Given the description of an element on the screen output the (x, y) to click on. 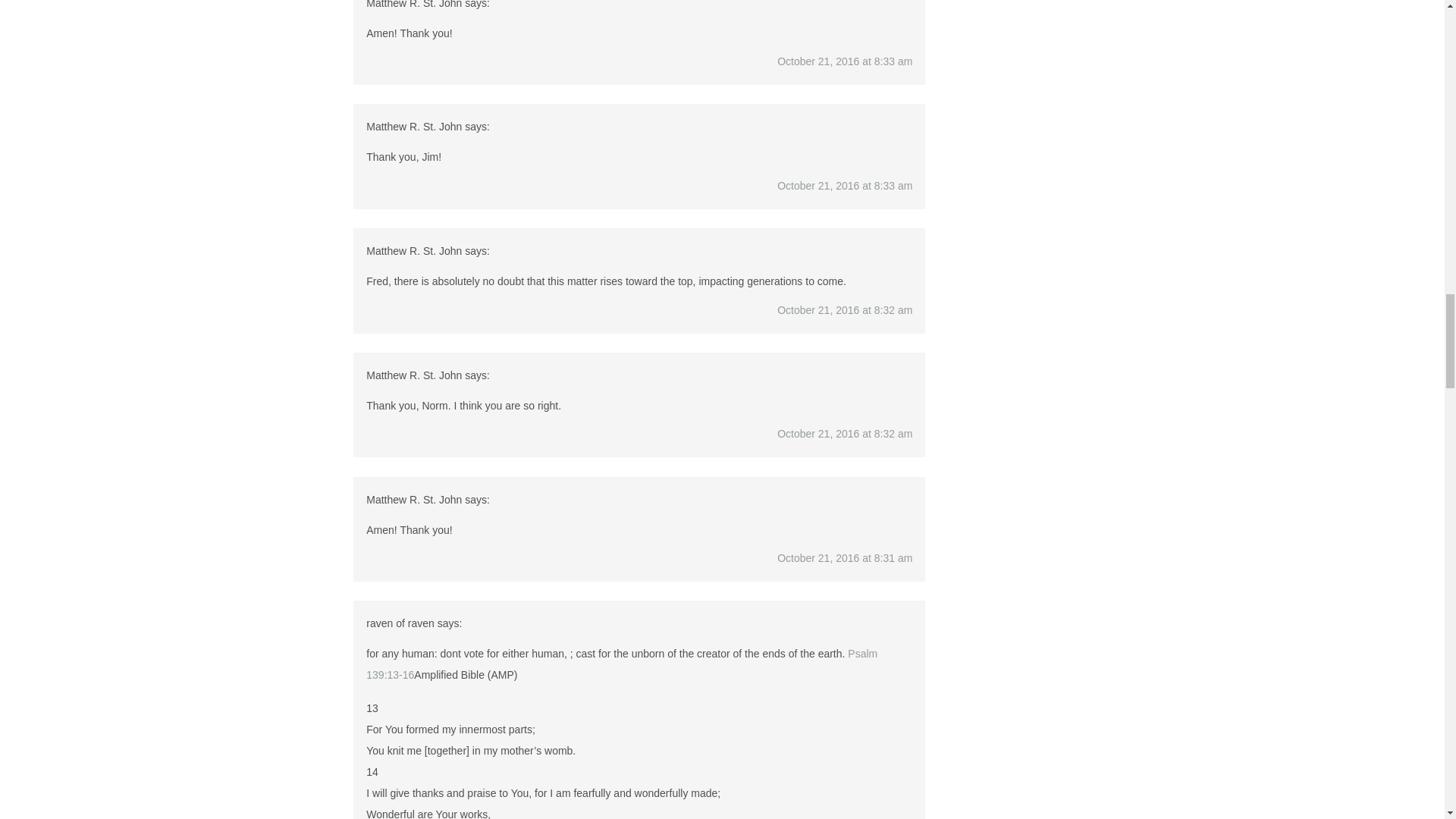
October 21, 2016 at 8:32 am (844, 309)
October 21, 2016 at 8:33 am (844, 61)
October 21, 2016 at 8:31 am (844, 558)
October 21, 2016 at 8:32 am (844, 433)
October 21, 2016 at 8:33 am (844, 185)
Psalm 139:13-16 (621, 663)
